Given the description of an element on the screen output the (x, y) to click on. 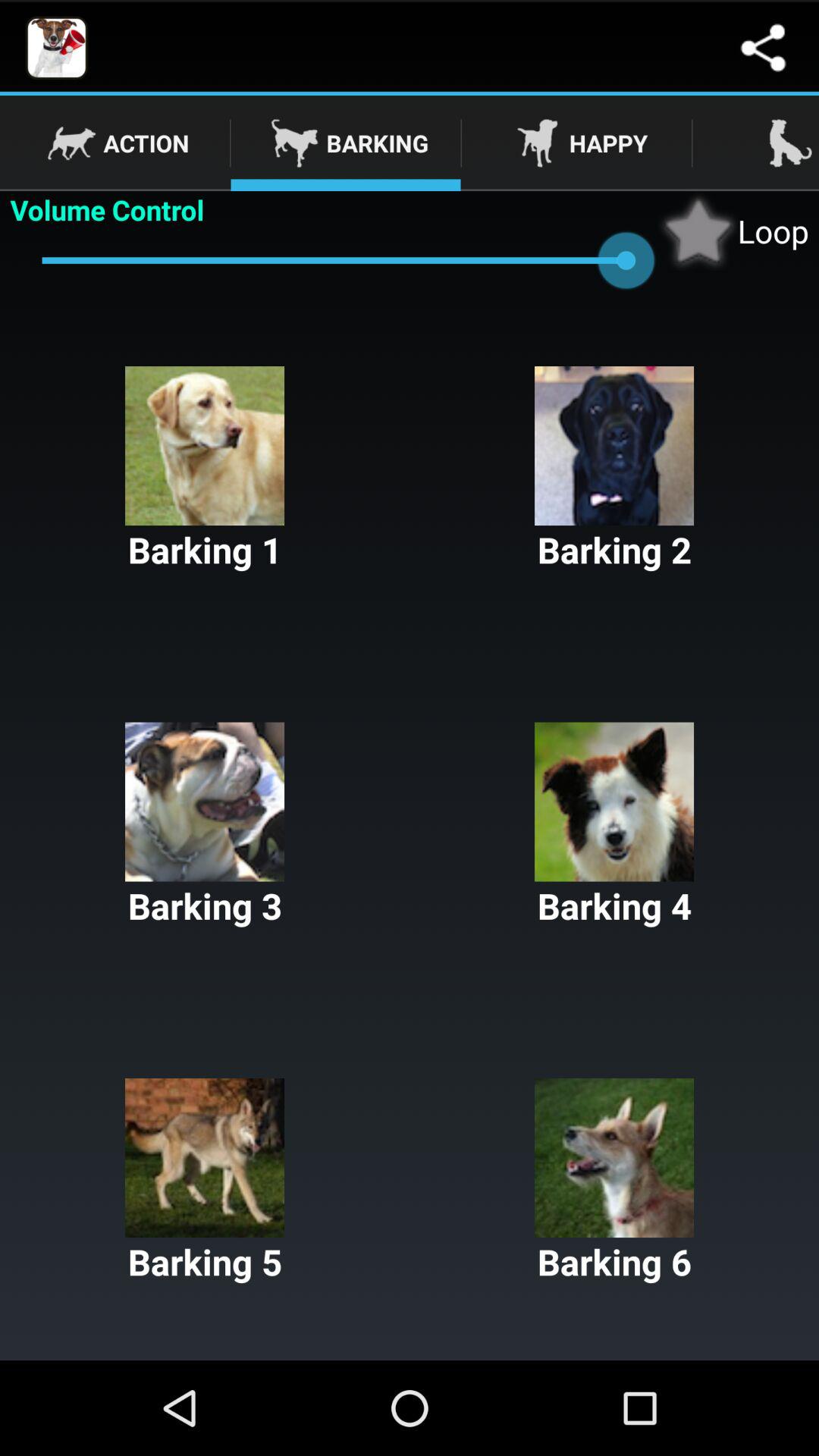
tap the icon next to barking 6 button (204, 1181)
